Given the description of an element on the screen output the (x, y) to click on. 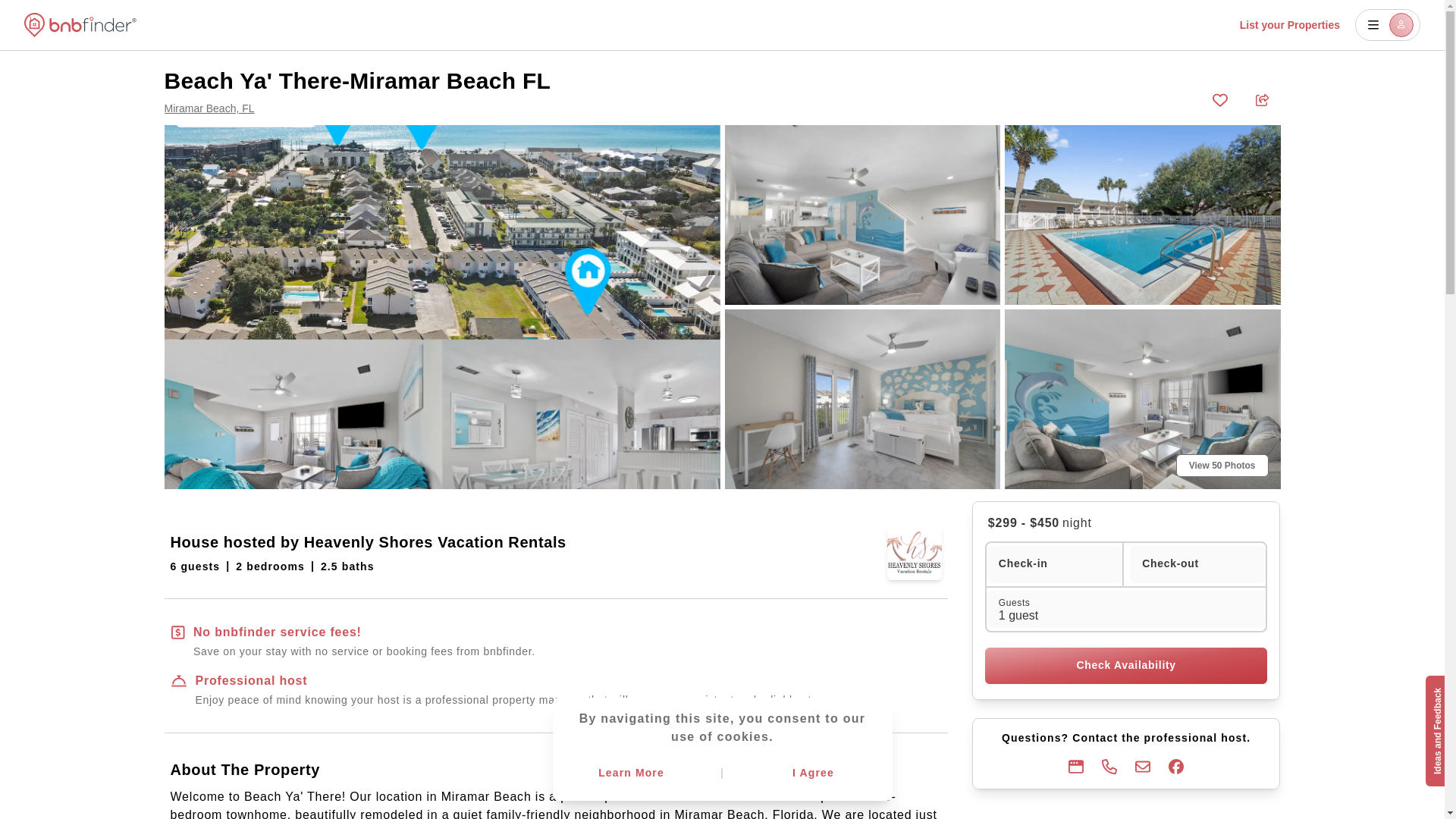
1 guest (1126, 609)
Open user menu (1388, 24)
List your Properties (1289, 24)
